Given the description of an element on the screen output the (x, y) to click on. 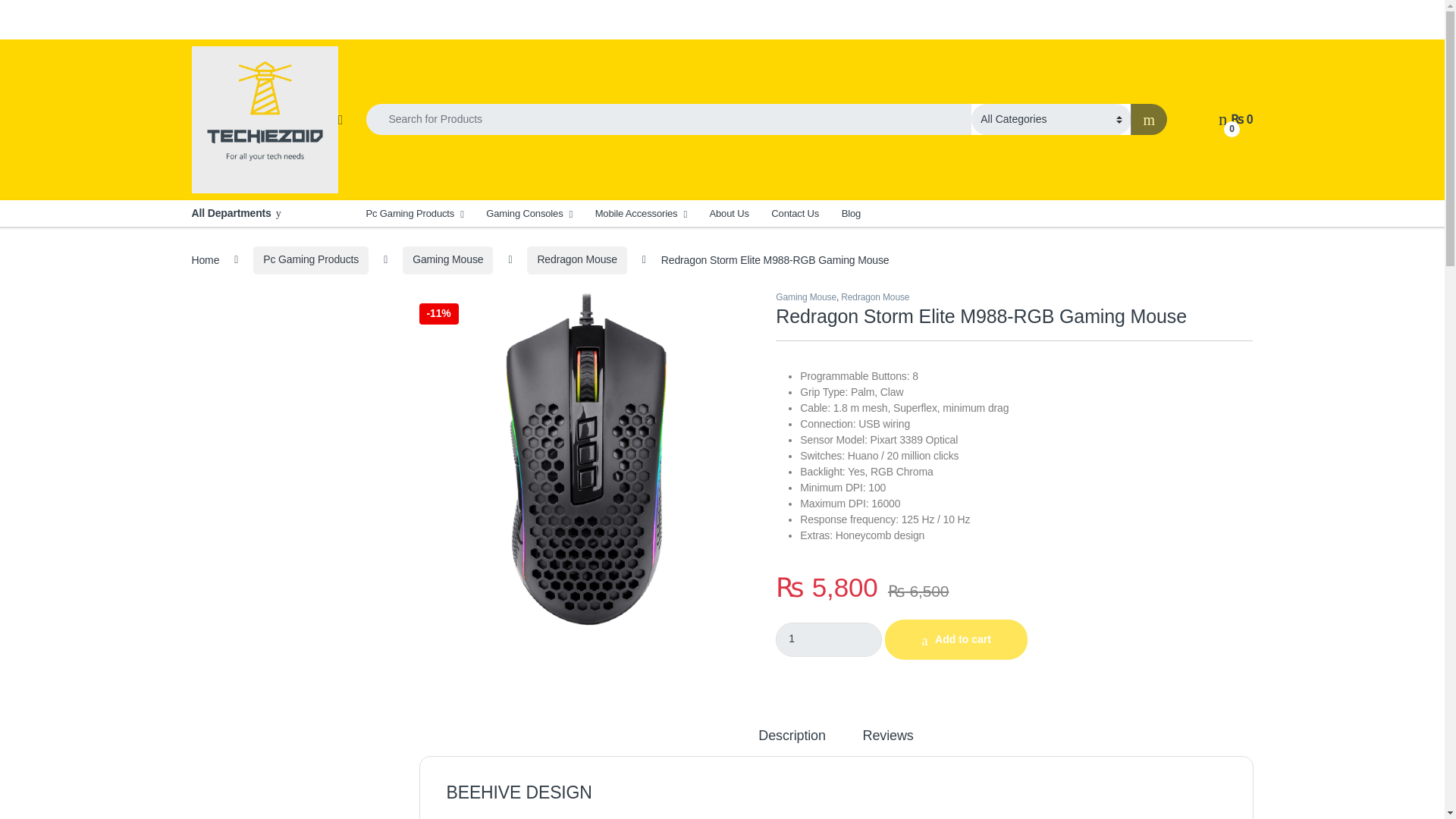
All Departments (266, 212)
1 (829, 639)
Pc Gaming Products (414, 212)
